Given the description of an element on the screen output the (x, y) to click on. 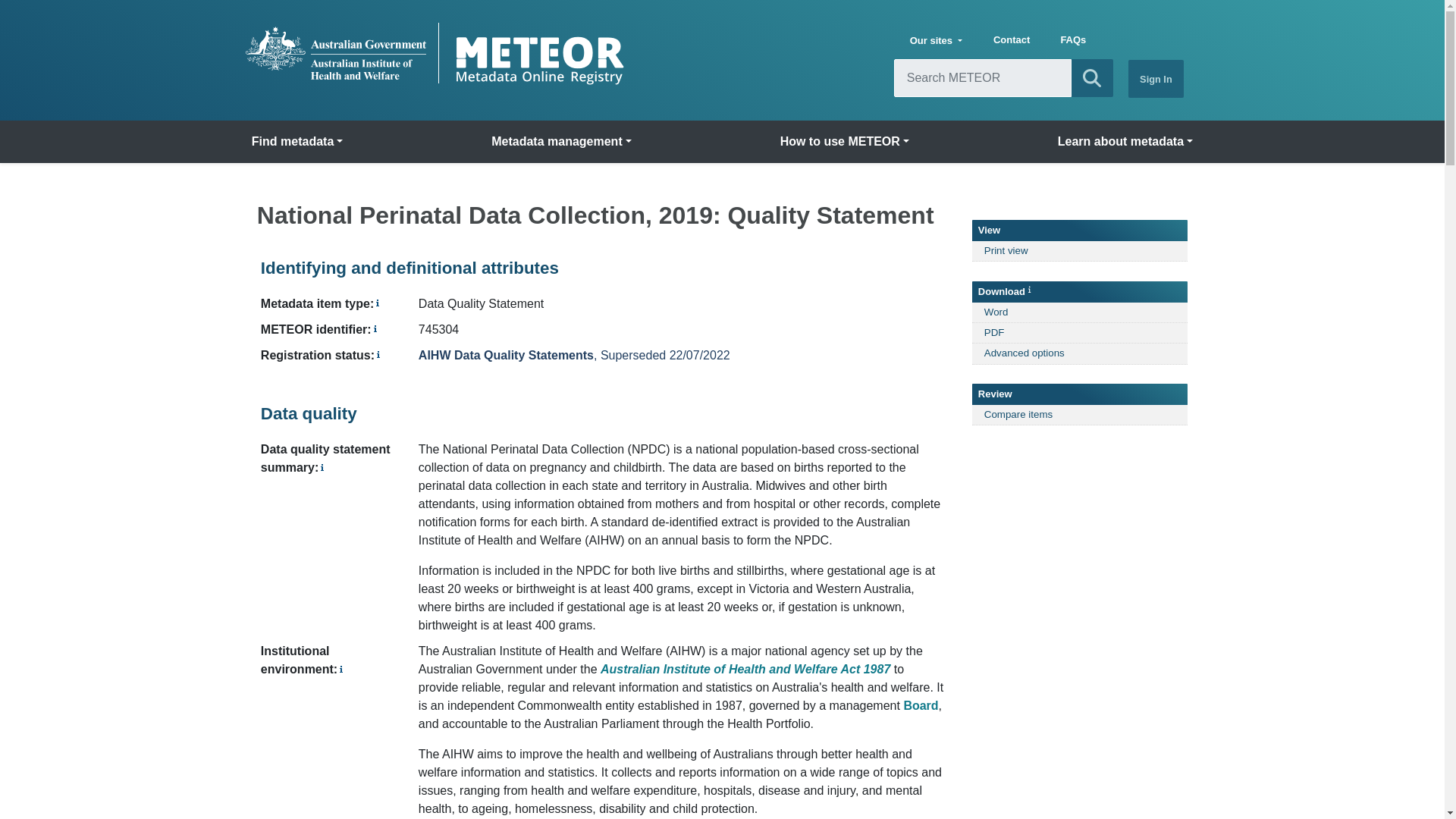
Sign In (1155, 78)
Learn about metadata (1124, 141)
Find metadata (297, 141)
Search METEOR (1092, 77)
How to use METEOR (844, 141)
Our sites (935, 40)
Contact (1011, 40)
Metadata management (560, 141)
FAQs (1072, 40)
